Given the description of an element on the screen output the (x, y) to click on. 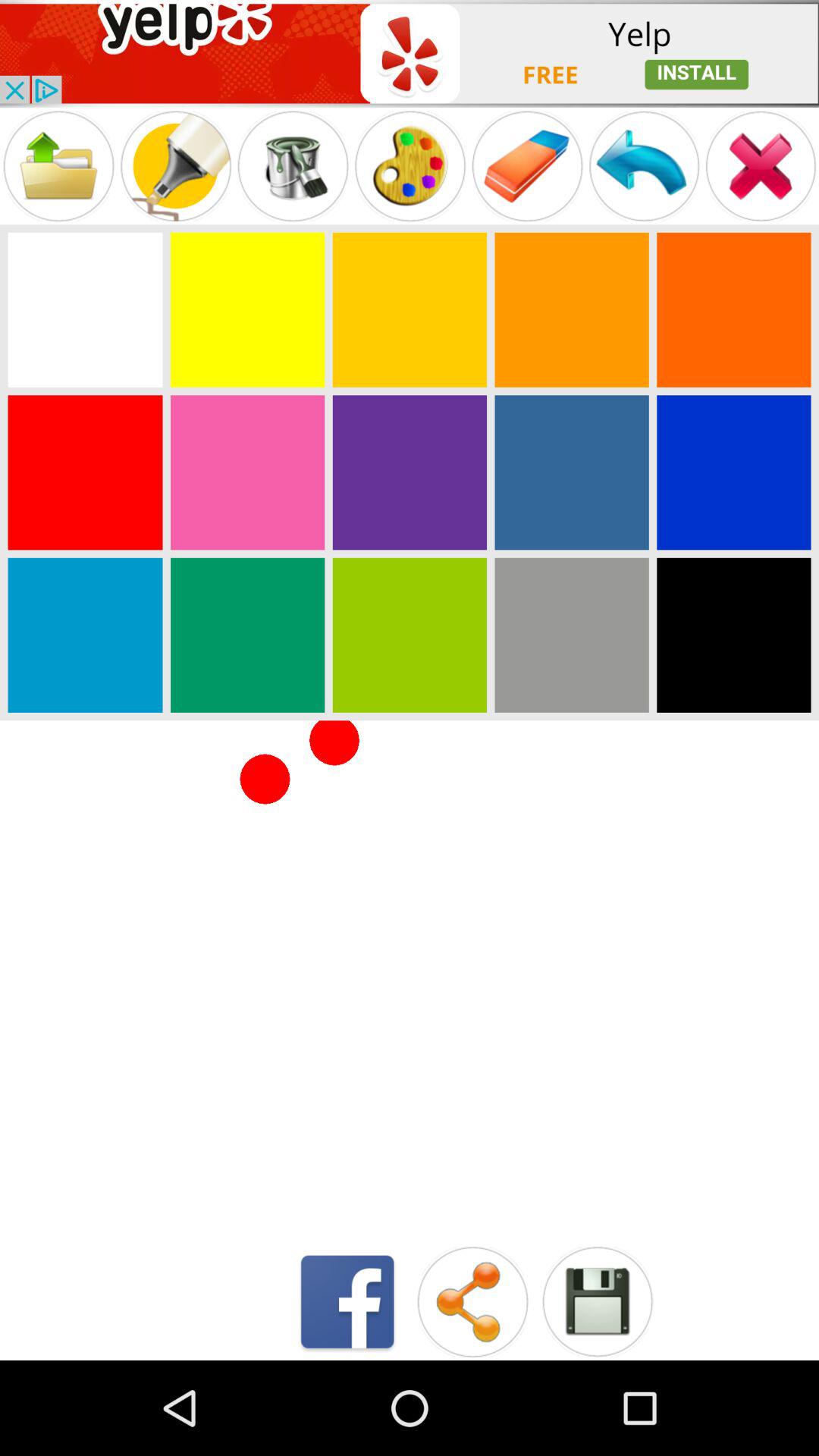
background page (84, 634)
